Given the description of an element on the screen output the (x, y) to click on. 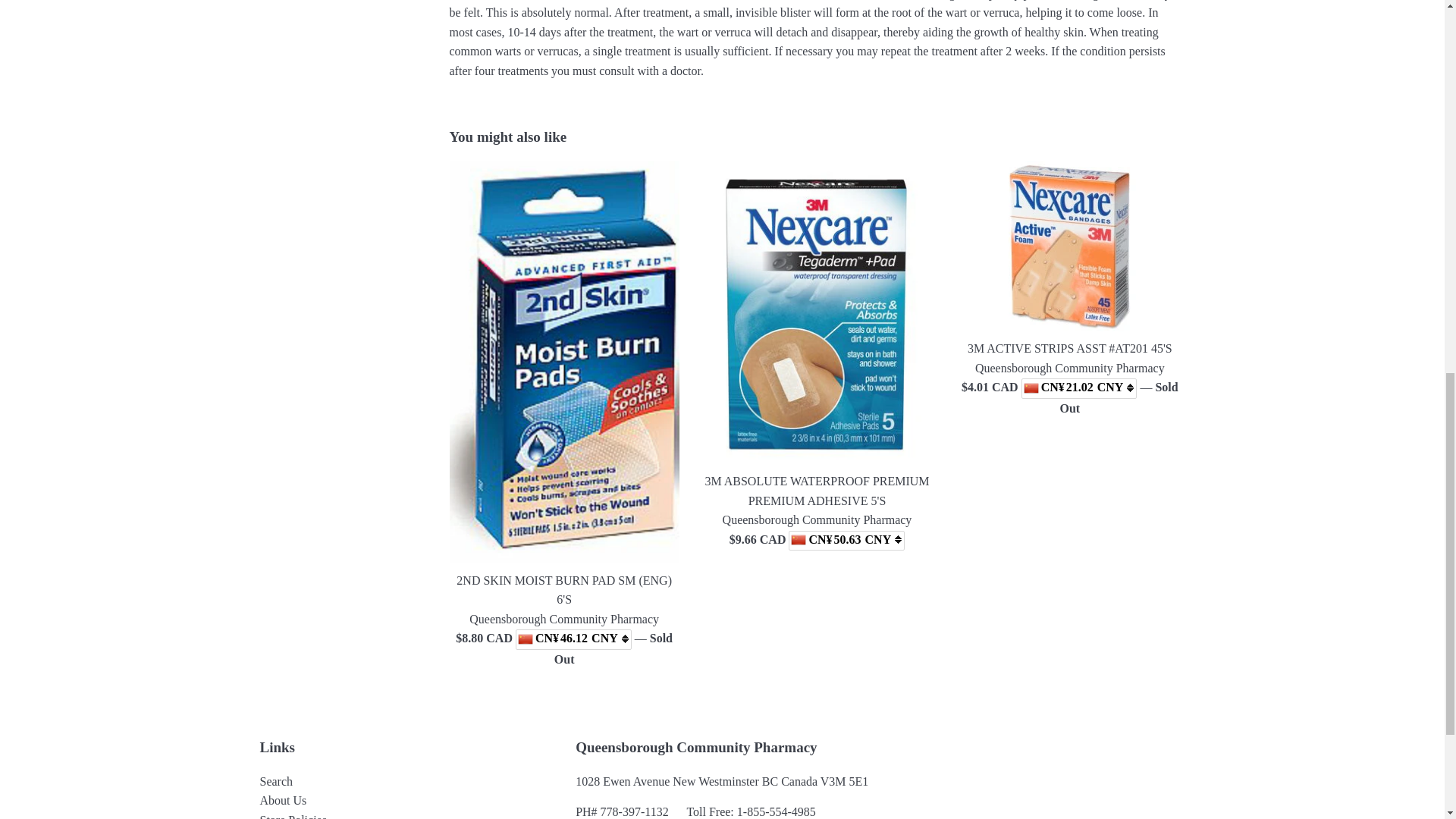
3M ABSOLUTE WATERPROOF PREMIUM PREMIUM ADHESIVE 5'S (816, 490)
Search (275, 780)
Store Policies (292, 816)
About Us (282, 799)
